Given the description of an element on the screen output the (x, y) to click on. 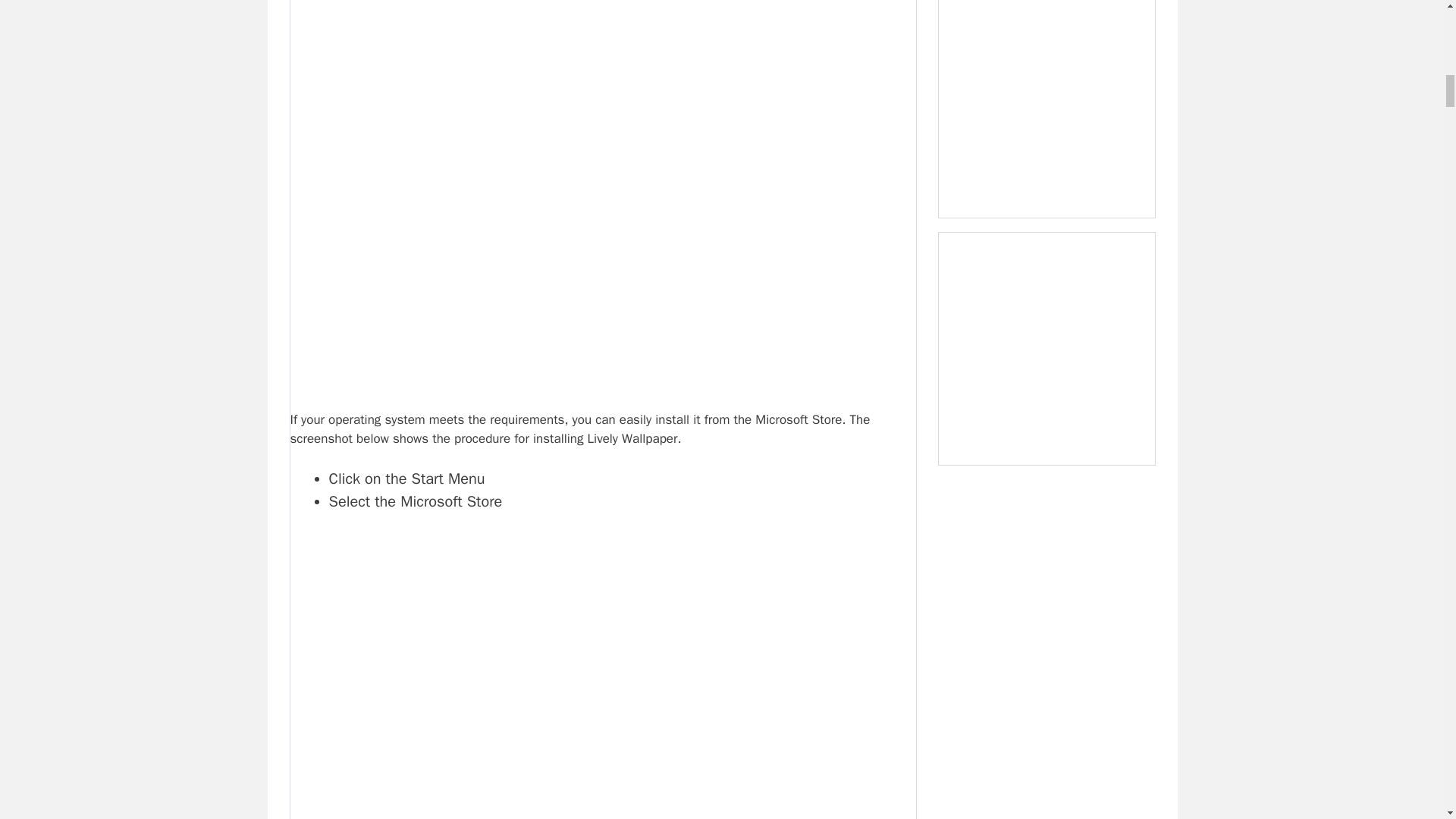
Lively Desktop Wallpapers on Windows 11 2 (602, 676)
